Given the description of an element on the screen output the (x, y) to click on. 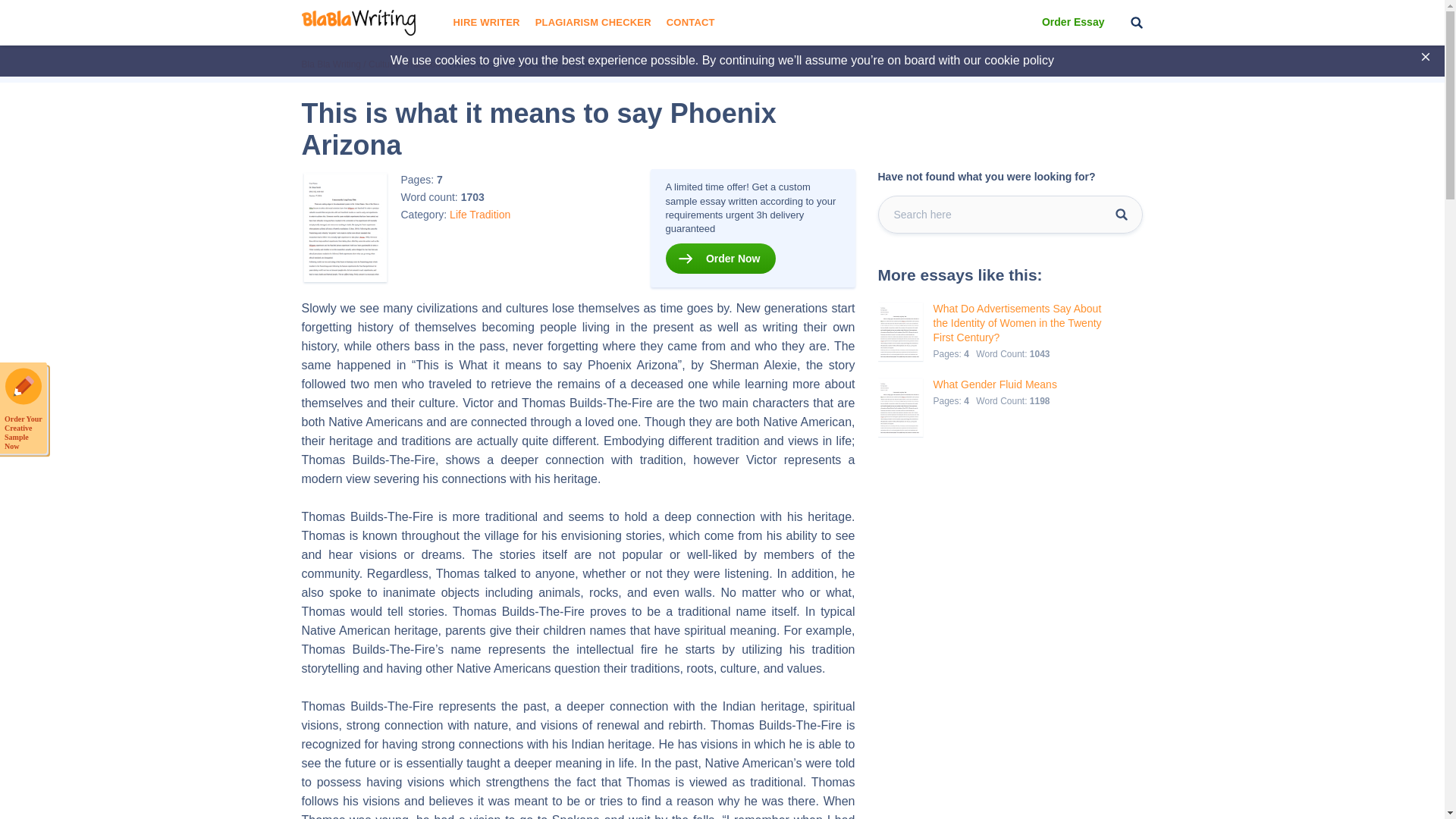
Order Essay (1073, 22)
HIRE WRITER (485, 22)
Tradition (489, 214)
CONTACT (690, 22)
cookie policy (1019, 60)
PLAGIARISM CHECKER (592, 22)
Tradition. (423, 63)
Bla Bla Writing (331, 63)
Order Now (720, 258)
Bla Bla Writing. (331, 63)
Culture. (382, 63)
Culture (382, 63)
Tradition (423, 63)
Life (458, 214)
